Given the description of an element on the screen output the (x, y) to click on. 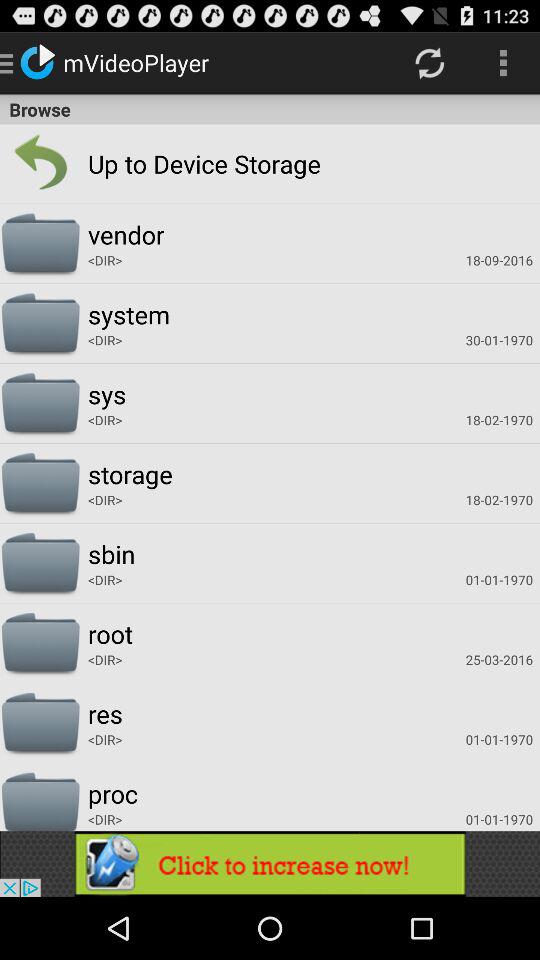
press the icon below the browse icon (163, 163)
